Given the description of an element on the screen output the (x, y) to click on. 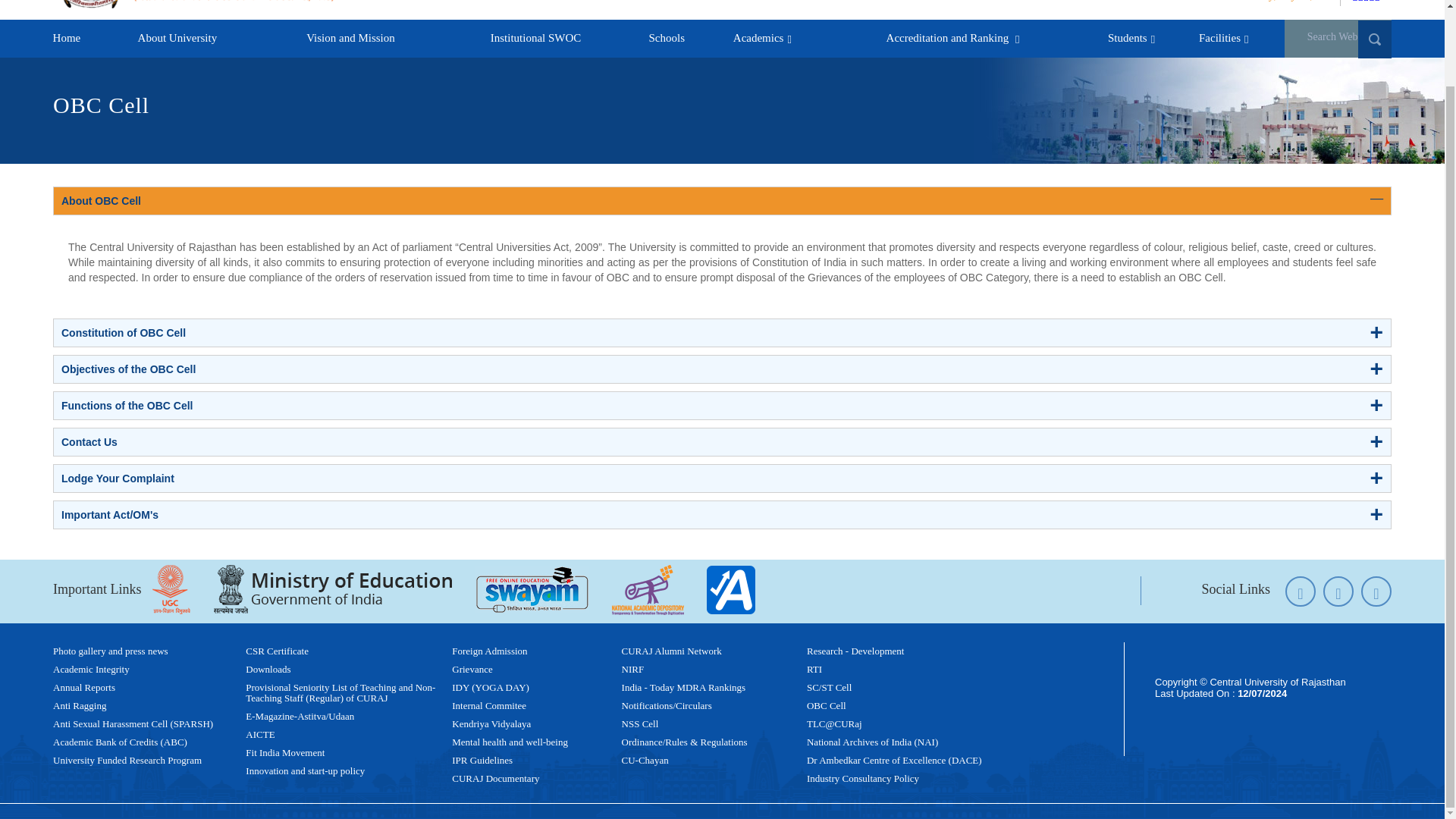
Home (66, 37)
Students (1129, 37)
University Grants Commission (171, 589)
Natioanl Academy Depository (647, 590)
About University (177, 37)
Vision and Mission (350, 37)
Academics (759, 37)
Ministry of Education (333, 589)
Enter the terms you wish to search for. (1337, 38)
SWAYAM (531, 589)
Institutional SWOC (535, 37)
Schools (665, 37)
Accreditation and Ranking (950, 37)
